Given the description of an element on the screen output the (x, y) to click on. 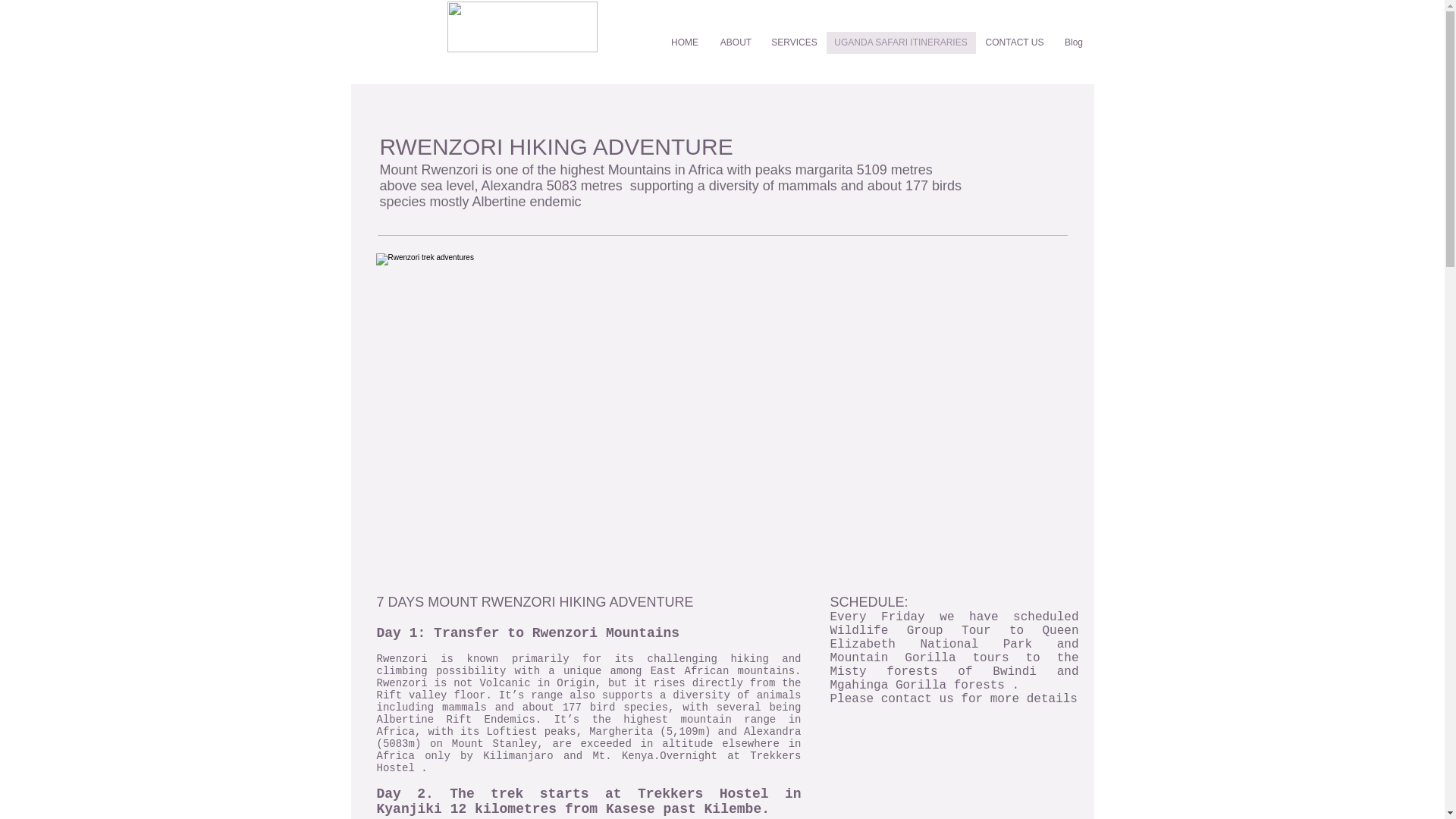
UGANDA SAFARI ITINERARIES (901, 42)
ABOUT (736, 42)
BWINDI MOUNTAIN GORILLA TREKKING TOURS LOGO 2018.jpg (521, 27)
Blog (1074, 42)
HOME (684, 42)
CONTACT US (1013, 42)
SERVICES (794, 42)
